Given the description of an element on the screen output the (x, y) to click on. 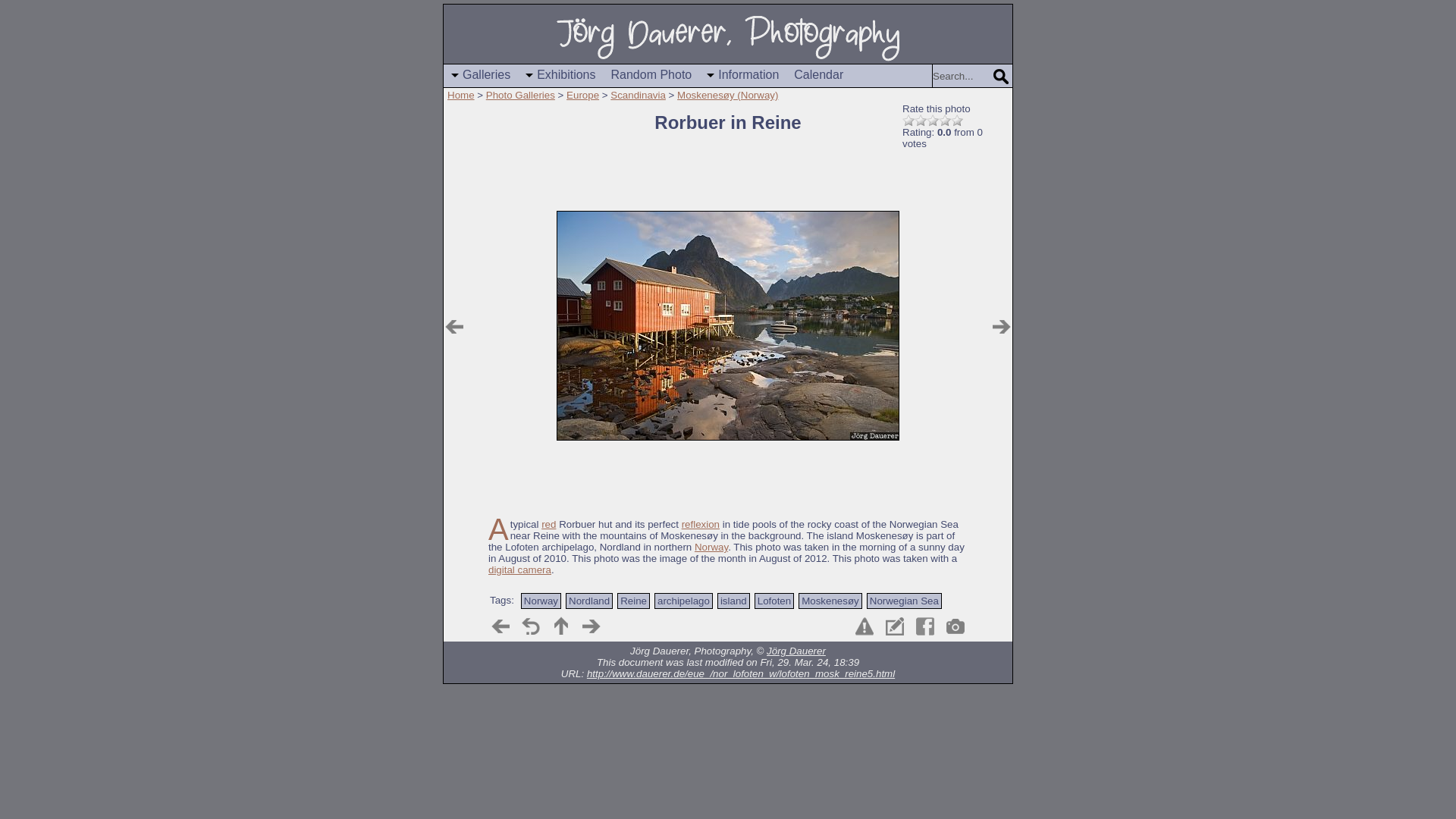
Photo Galleries (520, 94)
3 (932, 120)
Online Exhibitions (560, 75)
Europe (582, 94)
Galleries (481, 75)
Search (1001, 76)
Search (961, 75)
Scandinavia (637, 94)
5 (956, 120)
Exhibitions (560, 75)
Information (742, 75)
2 (920, 120)
4 (944, 120)
